Given the description of an element on the screen output the (x, y) to click on. 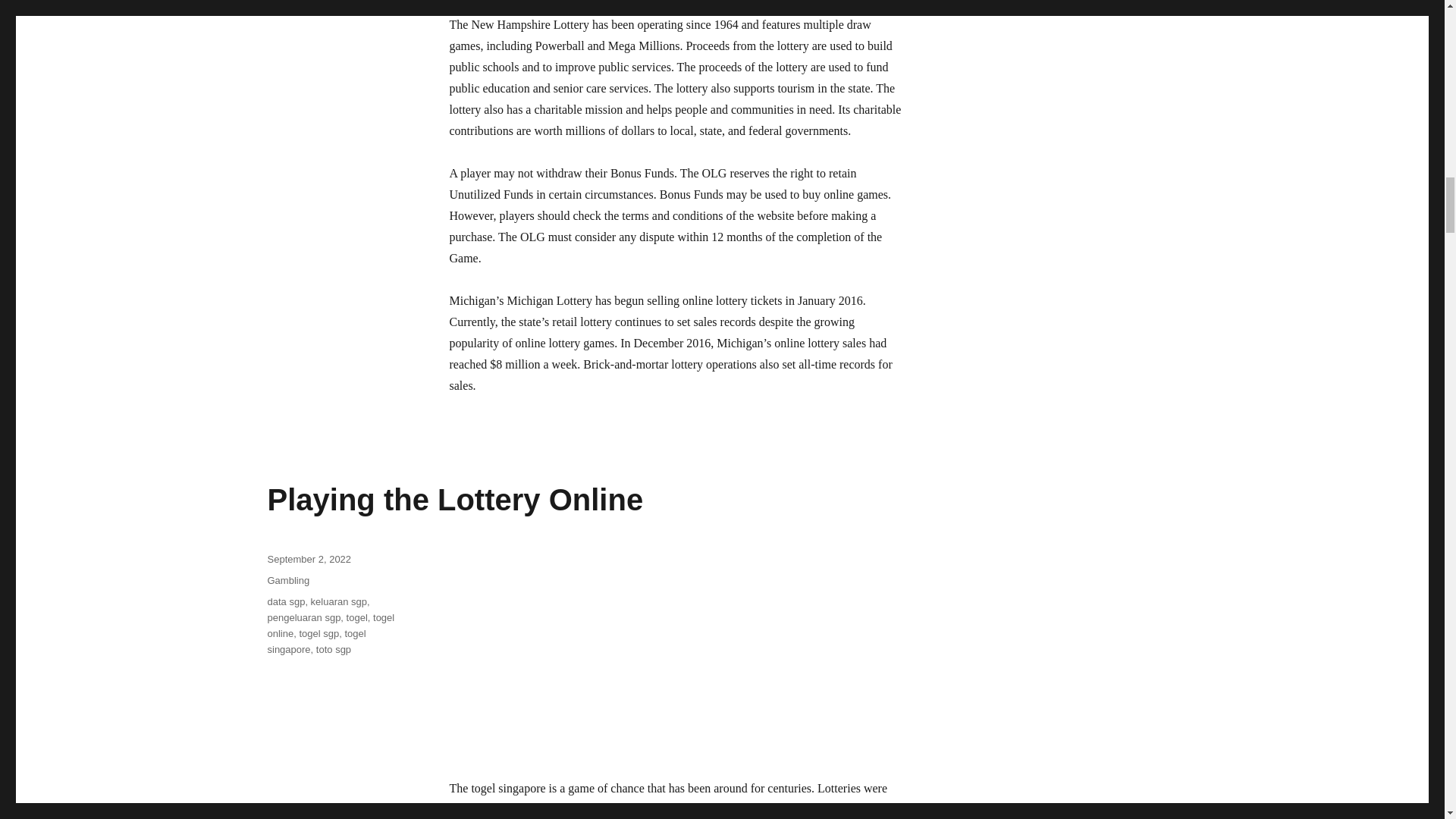
togel singapore (315, 641)
togel sgp (318, 633)
keluaran sgp (338, 601)
September 2, 2022 (308, 559)
togel (357, 617)
toto sgp (332, 649)
Gambling (287, 580)
pengeluaran sgp (303, 617)
data sgp (285, 601)
togel online (330, 625)
Playing the Lottery Online (454, 499)
